Given the description of an element on the screen output the (x, y) to click on. 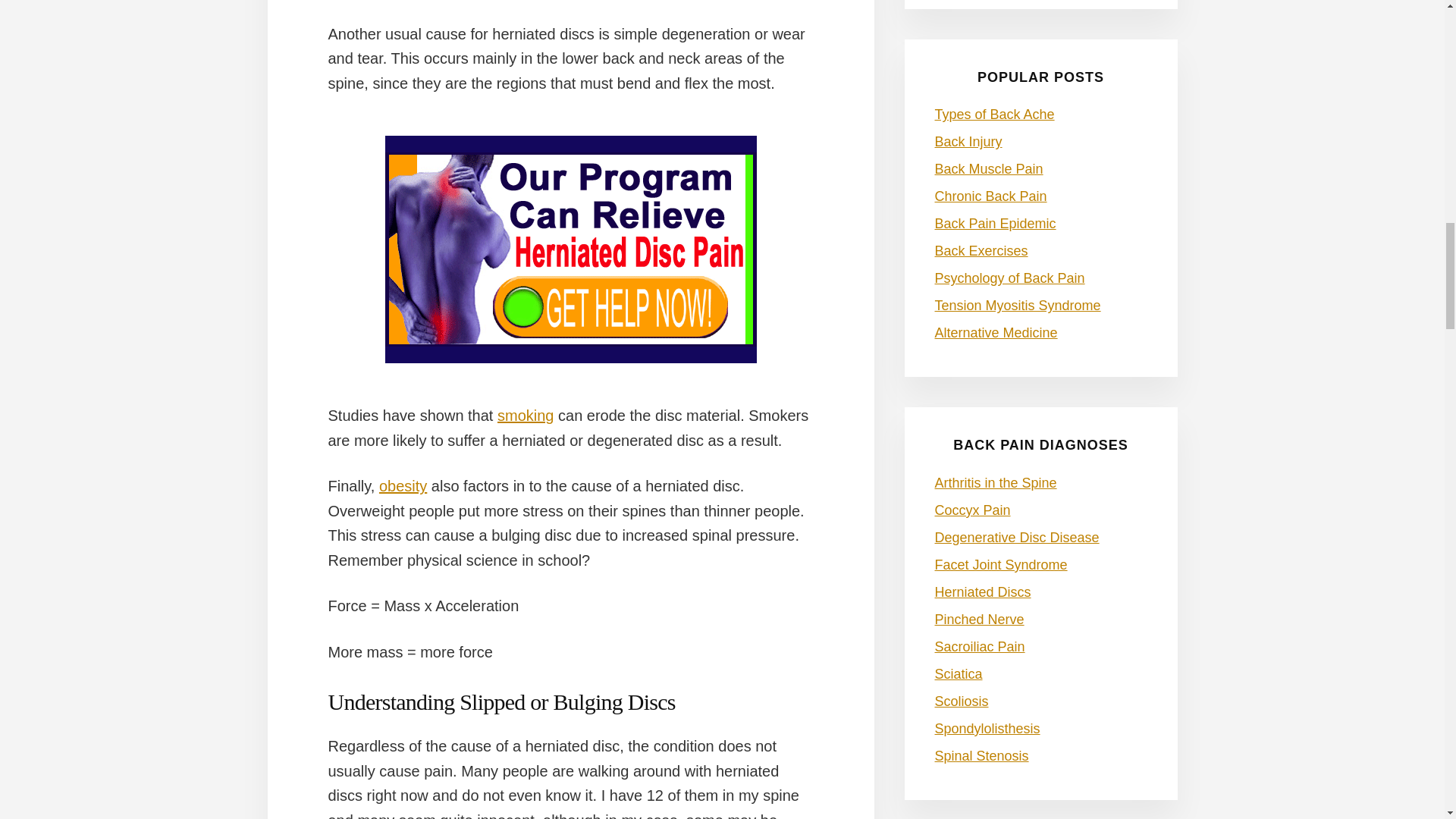
obesity (402, 485)
Back Pain Epidemic (994, 223)
smoking (525, 415)
Back Muscle Pain (988, 168)
Back Exercises (980, 250)
Back Injury (967, 141)
Types of Back Ache (994, 114)
Chronic Back Pain (990, 196)
